Given the description of an element on the screen output the (x, y) to click on. 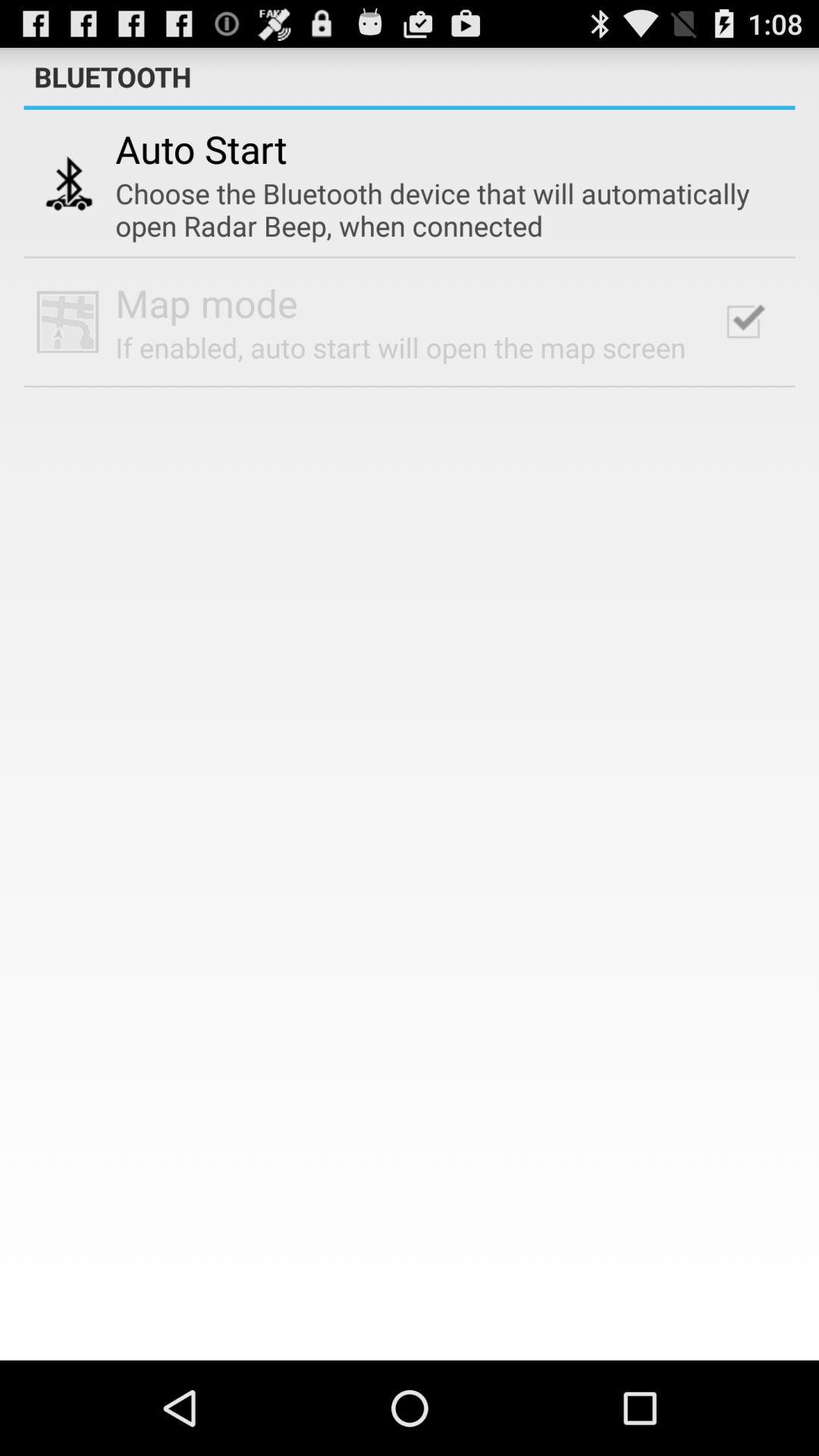
launch app below the choose the bluetooth (206, 302)
